Given the description of an element on the screen output the (x, y) to click on. 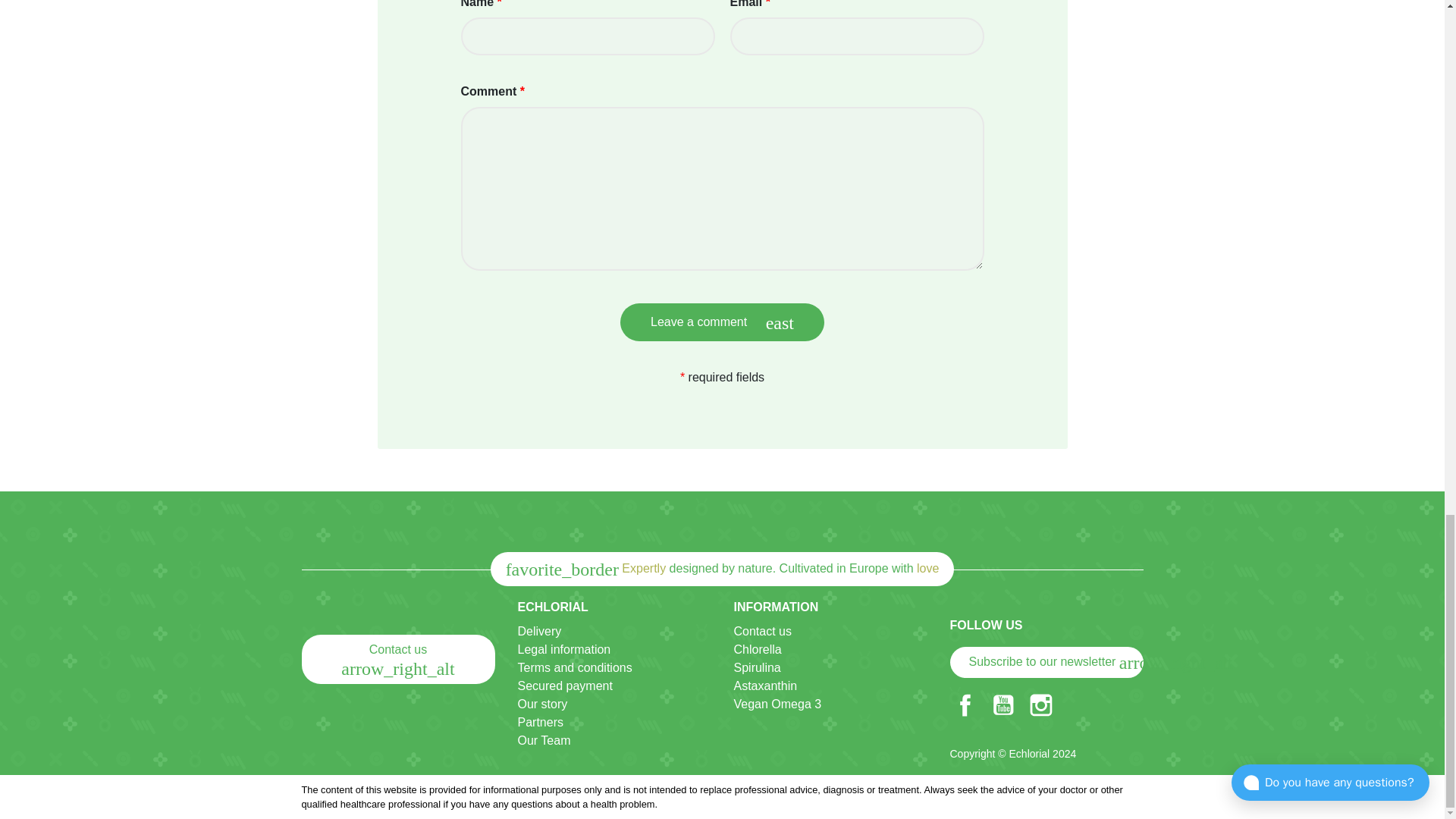
Secured payment on eChlorial website (563, 685)
Delivery (538, 631)
Use our form to contact us (762, 631)
Legal information (563, 649)
We have been distributing Chlorella eChlorial for 20 years ! (541, 703)
Terms and conditions (573, 667)
